Given the description of an element on the screen output the (x, y) to click on. 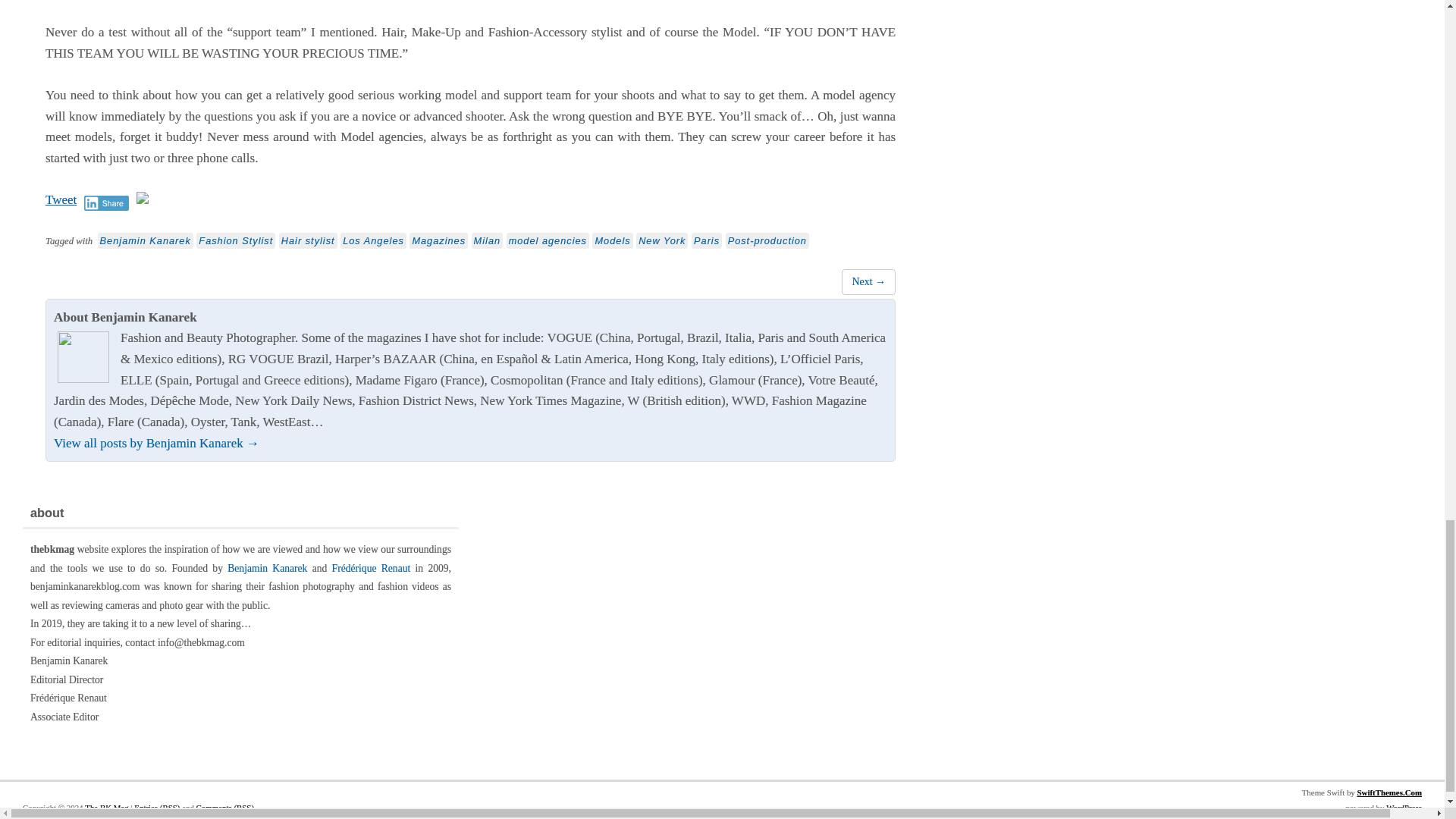
Benjamin Kanarek (145, 240)
model agencies (547, 240)
Paris (706, 240)
Fashion Stylist (235, 240)
Los Angeles (373, 240)
Hair stylist (308, 240)
Models (611, 240)
Take your Photo, but Break with Conventions! (868, 281)
Share (106, 202)
Post-production (767, 240)
